Given the description of an element on the screen output the (x, y) to click on. 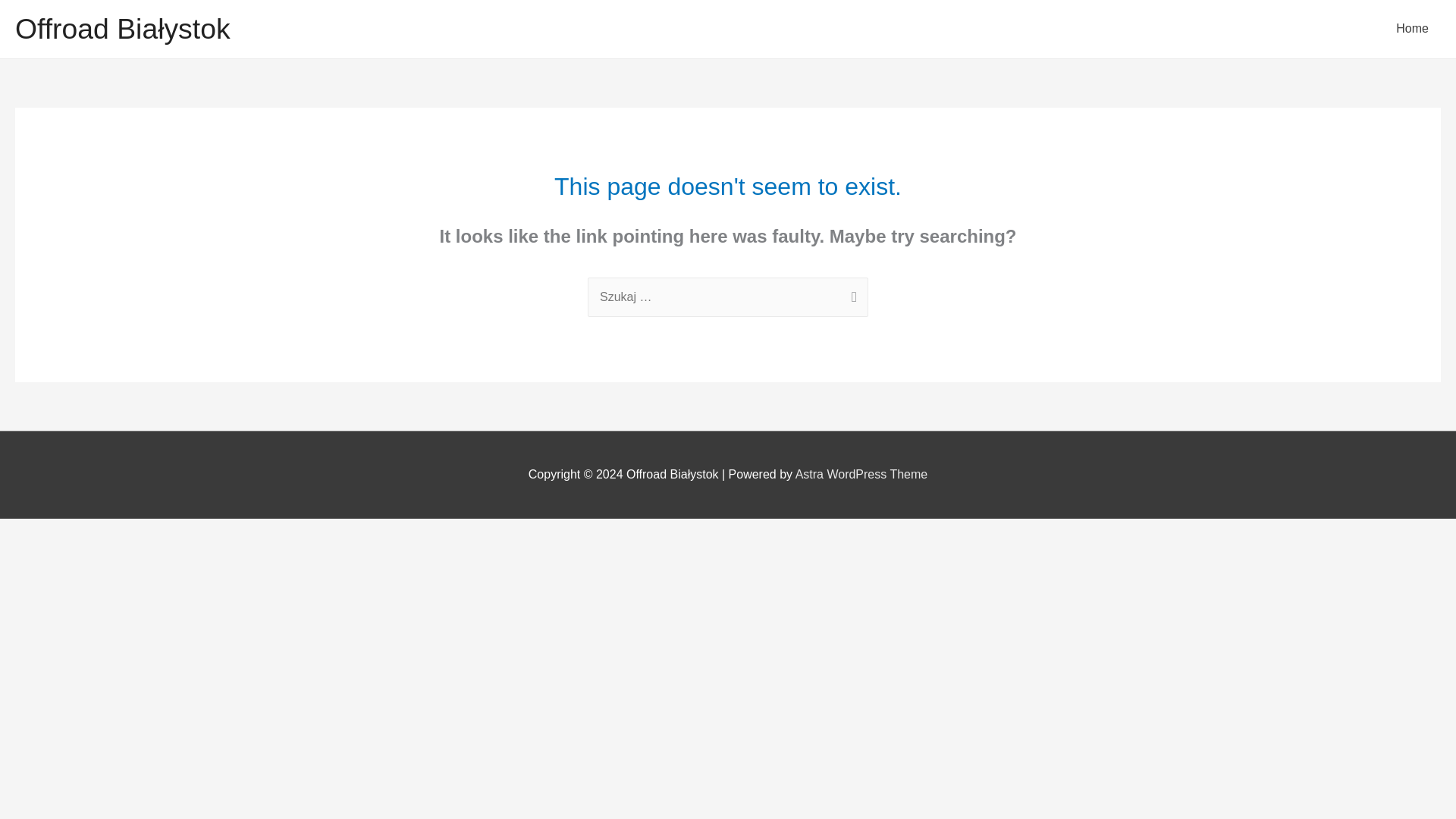
Szukaj (850, 298)
Home (1412, 29)
Szukaj (850, 298)
Szukaj (850, 298)
Astra WordPress Theme (861, 473)
